Given the description of an element on the screen output the (x, y) to click on. 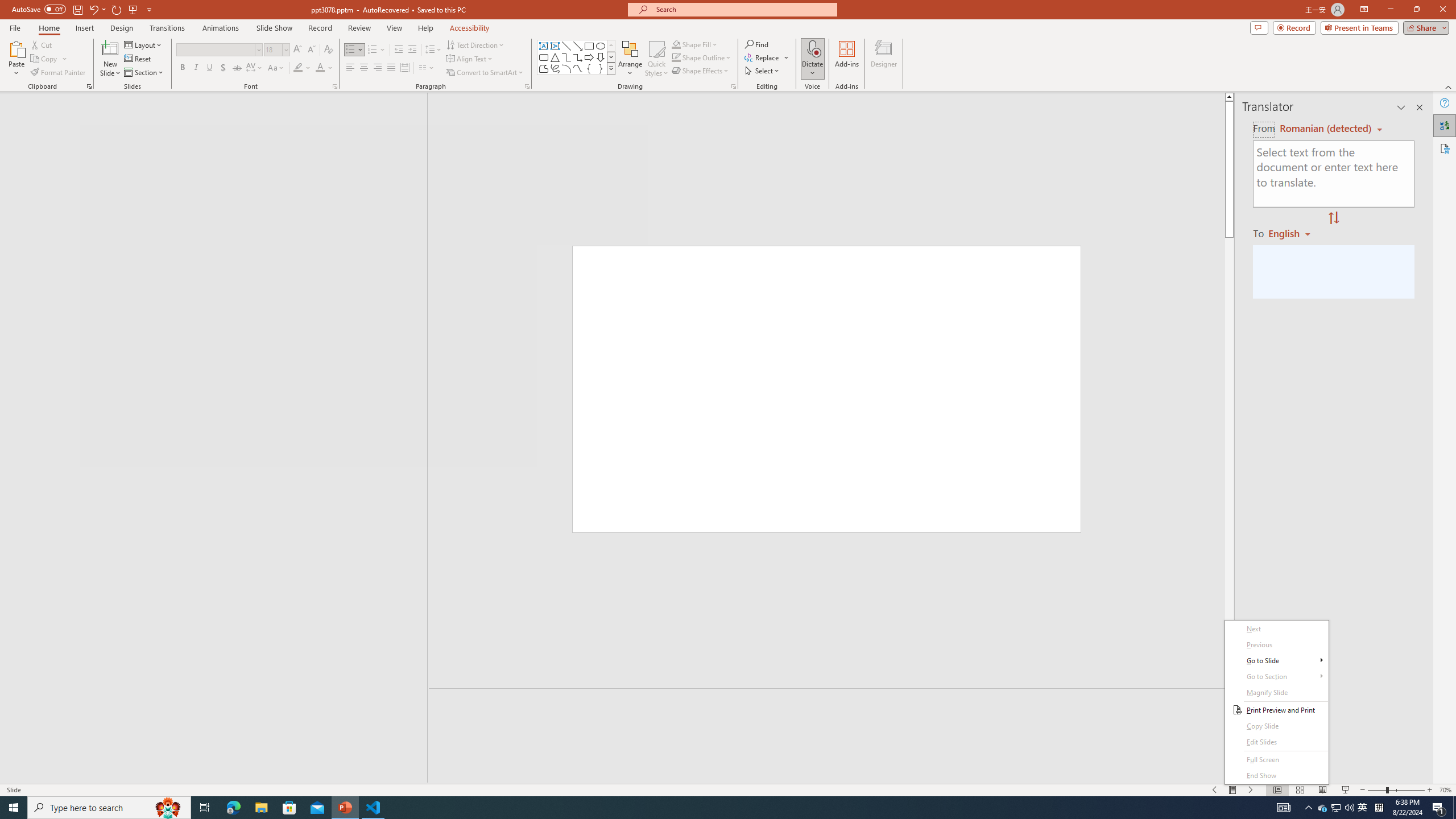
Previous (1276, 644)
Action Center, 1 new notification (1439, 807)
Strikethrough (237, 67)
Vertical Text Box (554, 45)
Numbering (372, 49)
Font Size (276, 49)
Designer (883, 58)
Paste (16, 48)
Align Text (470, 58)
Replace... (762, 56)
